Given the description of an element on the screen output the (x, y) to click on. 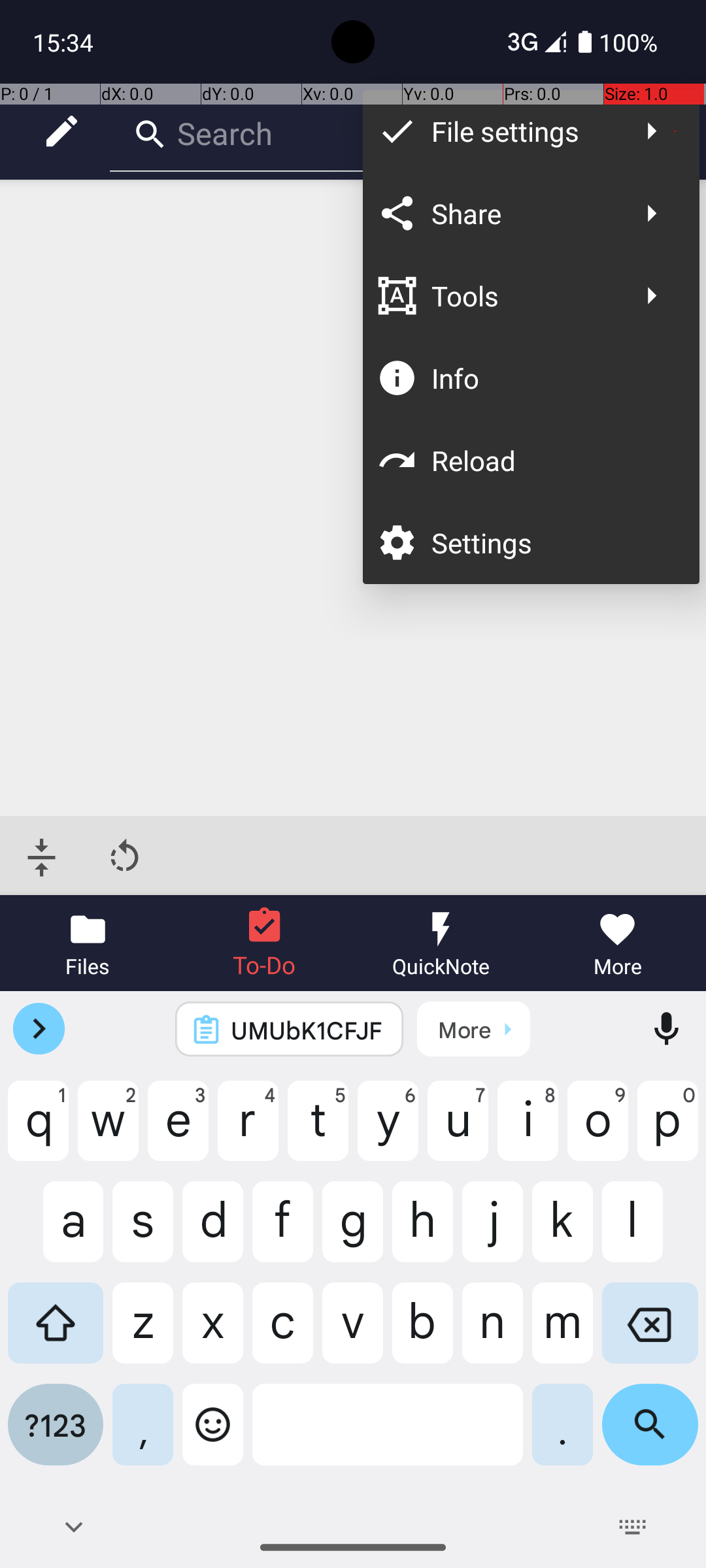
File settings Element type: android.widget.TextView (524, 130)
Tools Element type: android.widget.TextView (524, 295)
Info Element type: android.widget.TextView (551, 377)
Reload Element type: android.widget.TextView (551, 459)
